Given the description of an element on the screen output the (x, y) to click on. 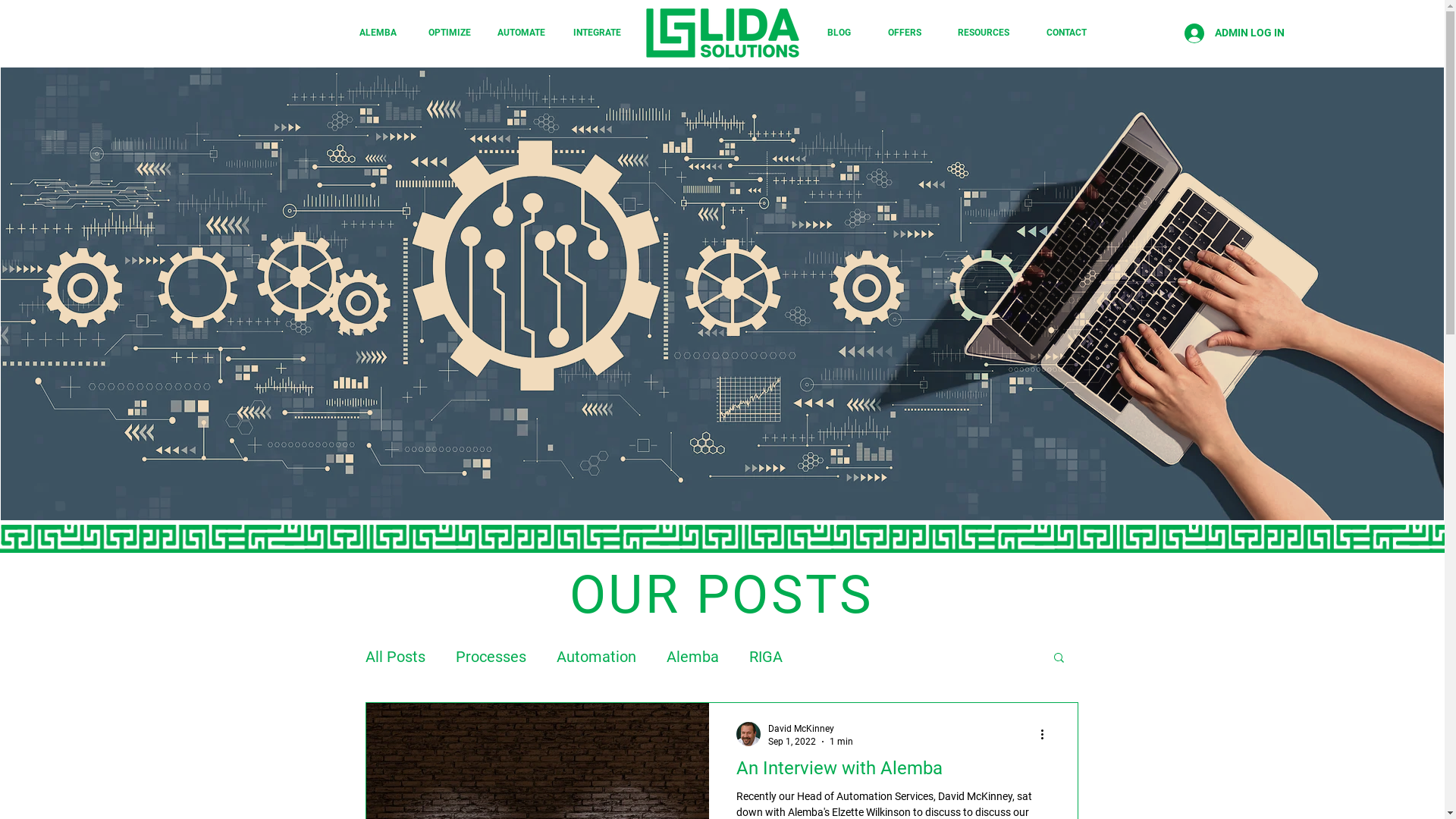
RESOURCES Element type: text (982, 32)
All Posts Element type: text (395, 656)
OFFERS Element type: text (905, 32)
Processes Element type: text (490, 656)
Alemba Element type: text (691, 656)
David McKinney Element type: text (809, 728)
OPTIMIZE Element type: text (448, 32)
BLOG Element type: text (838, 32)
AUTOMATE Element type: text (521, 32)
ADMIN LOG IN Element type: text (1234, 32)
INTEGRATE Element type: text (596, 32)
RIGA Element type: text (765, 656)
Automation Element type: text (596, 656)
CONTACT Element type: text (1066, 32)
ALEMBA Element type: text (377, 32)
An Interview with Alemba Element type: text (892, 772)
